Given the description of an element on the screen output the (x, y) to click on. 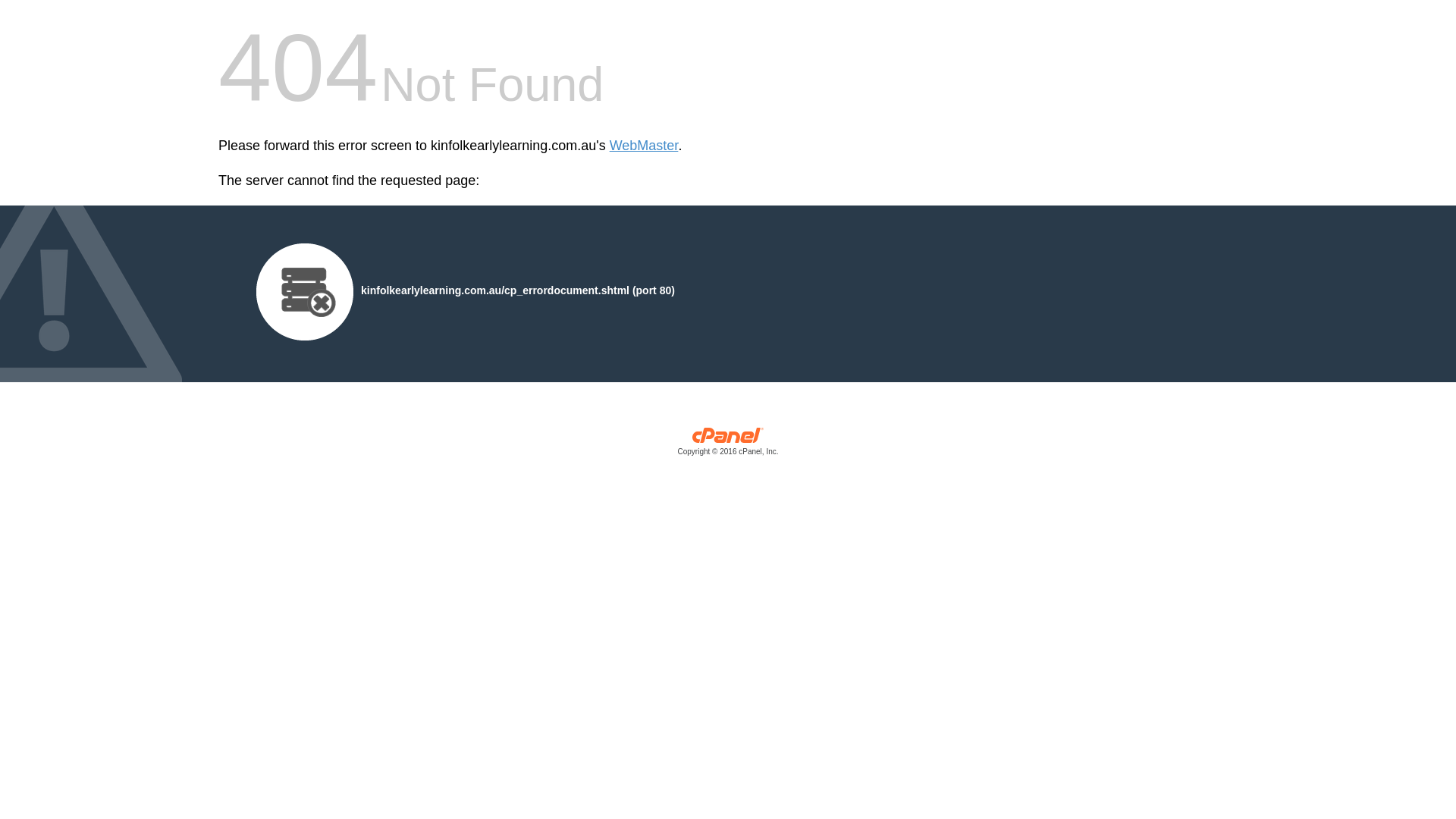
WebMaster Element type: text (643, 145)
